Given the description of an element on the screen output the (x, y) to click on. 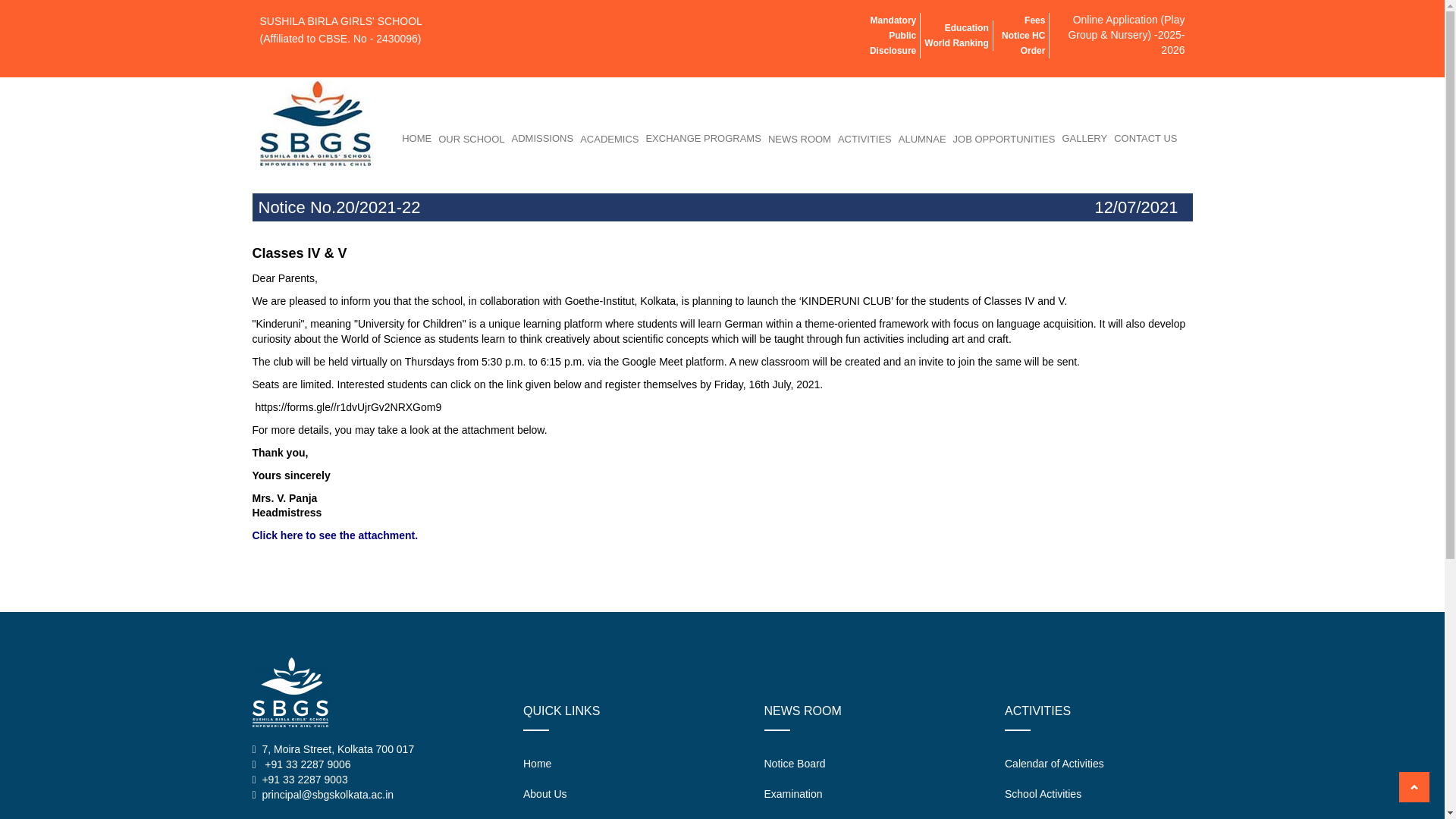
Mandatory Public Disclosure (892, 35)
Fees Notice HC Order (1023, 35)
EXCHANGE PROGRAMS (703, 138)
Education World Ranking (956, 35)
ADMISSIONS (543, 138)
